Given the description of an element on the screen output the (x, y) to click on. 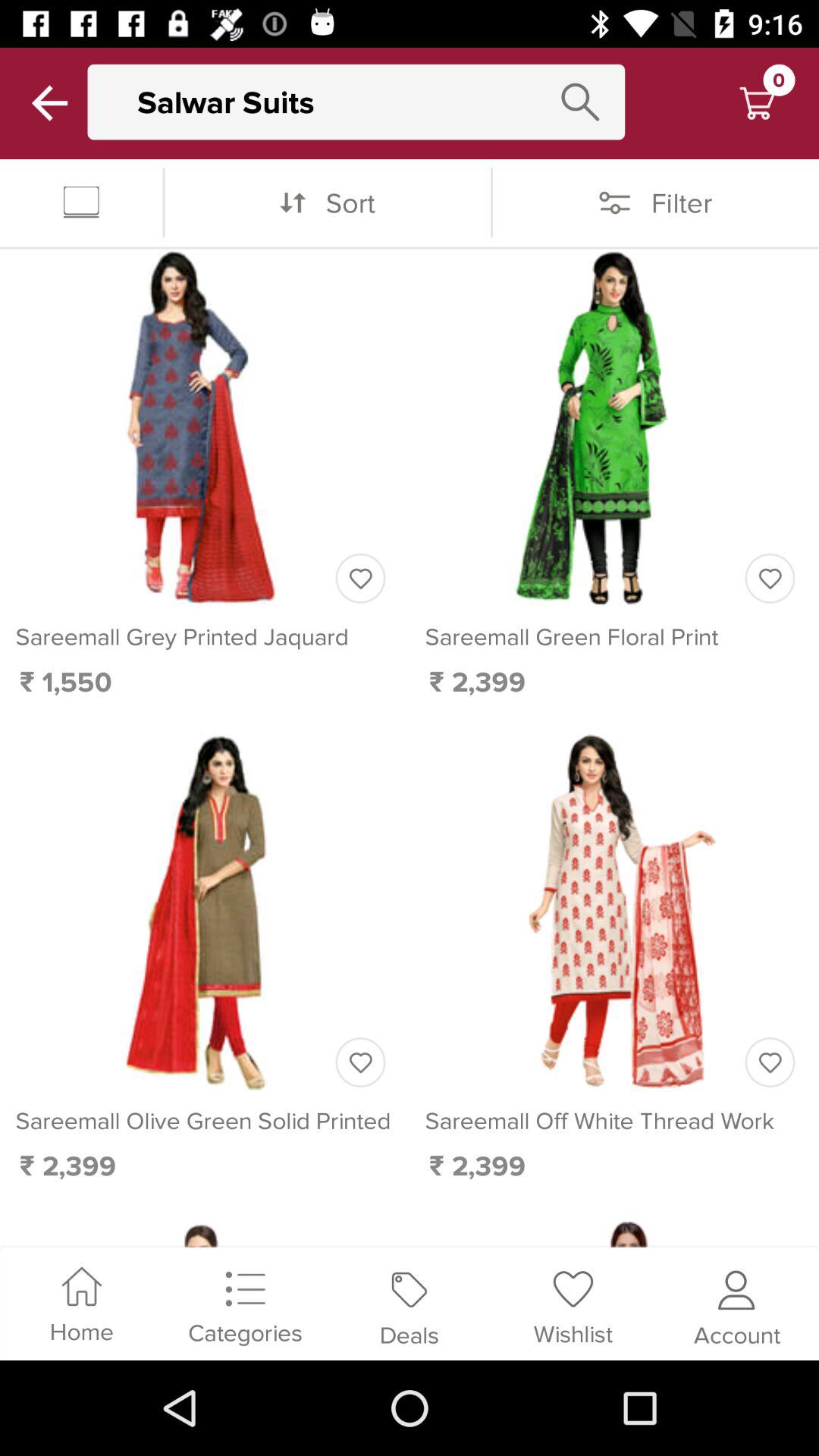
add item to wishlist (770, 578)
